Given the description of an element on the screen output the (x, y) to click on. 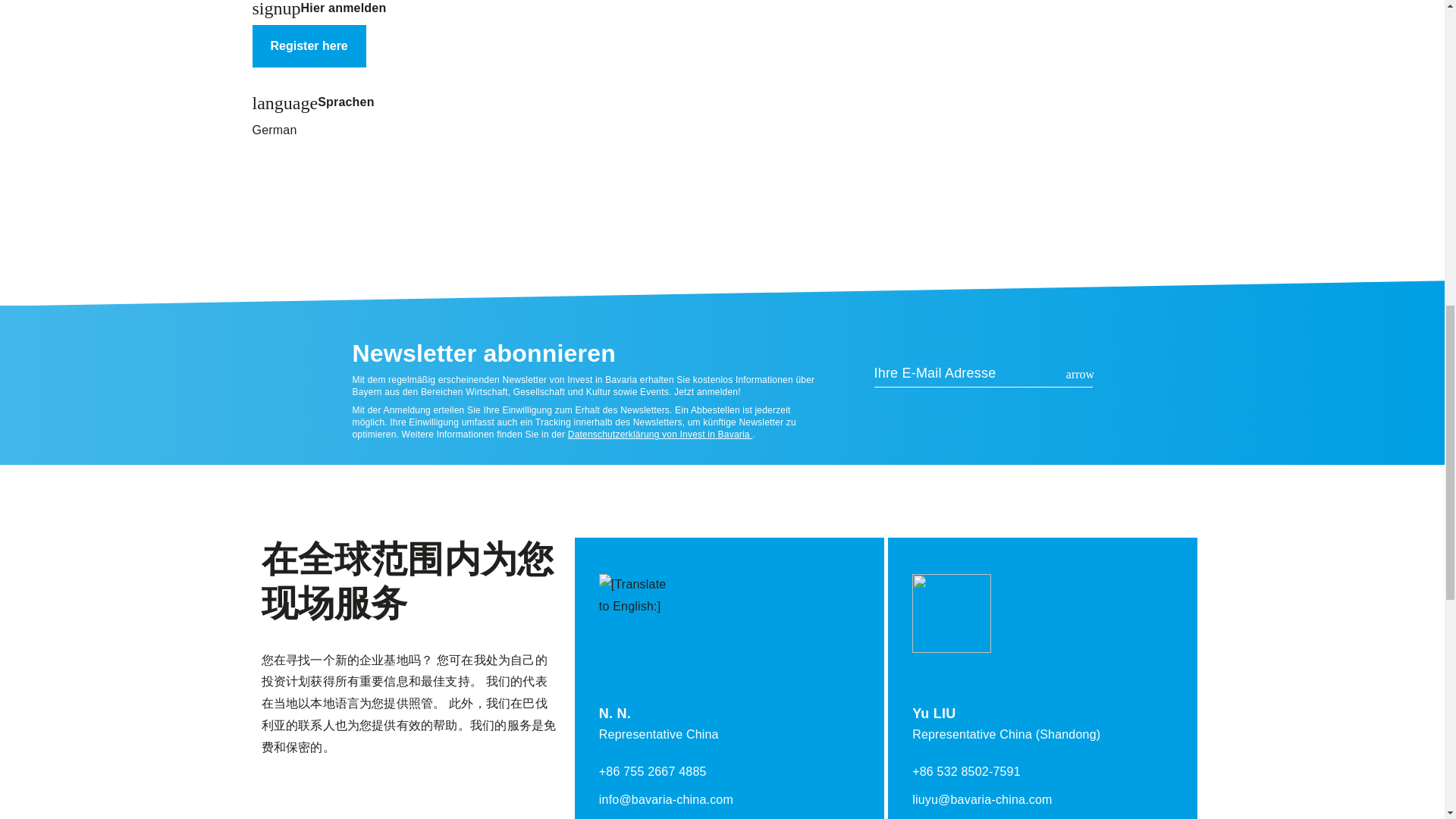
Register here (308, 46)
arrow (1079, 374)
Register here (308, 46)
